Given the description of an element on the screen output the (x, y) to click on. 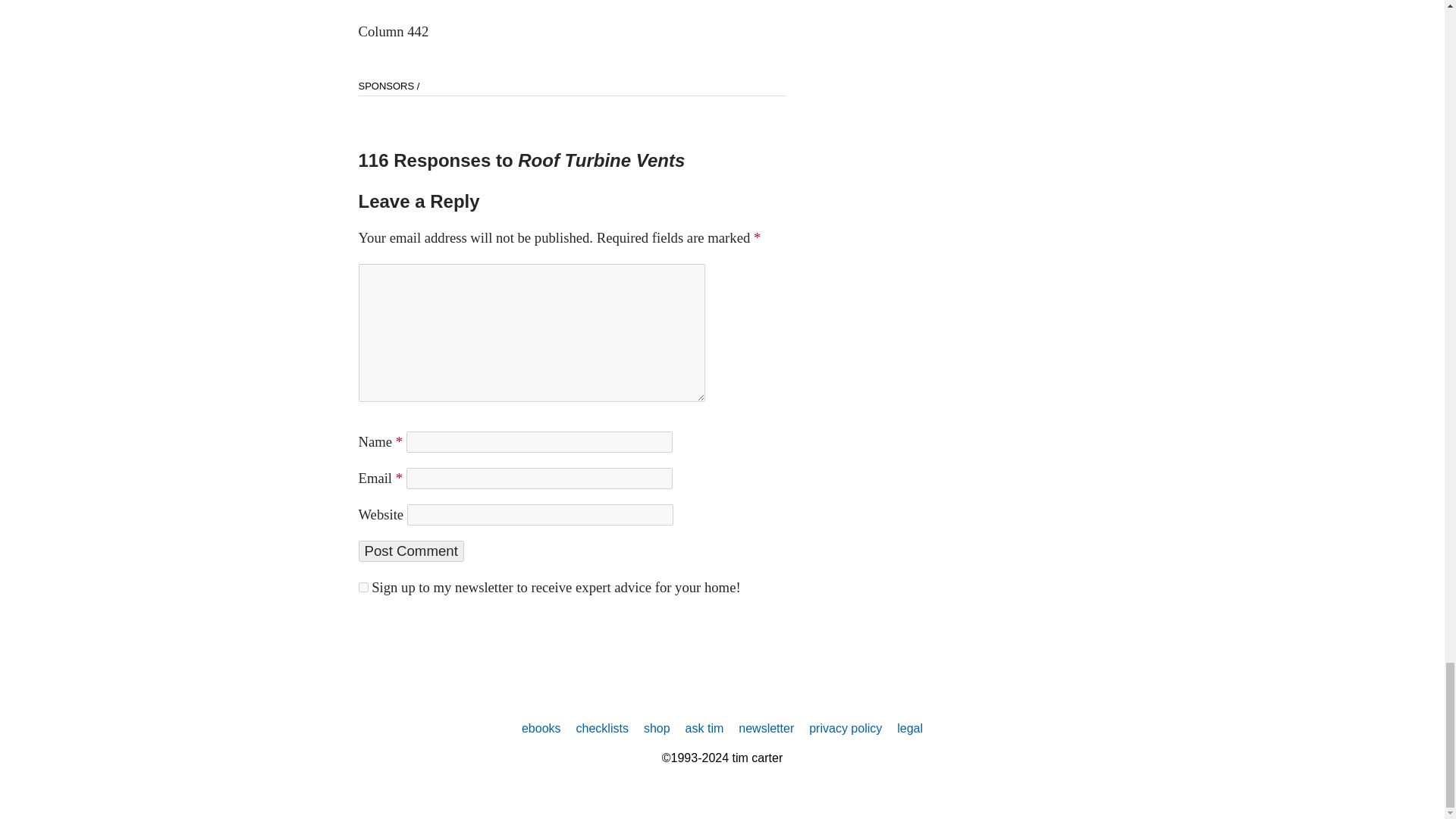
newsletter (765, 727)
Post Comment (410, 550)
legal (909, 727)
shop (656, 727)
1 (363, 587)
checklists (602, 727)
privacy policy (845, 727)
ebooks (540, 727)
ask tim (704, 727)
Post Comment (410, 550)
